Given the description of an element on the screen output the (x, y) to click on. 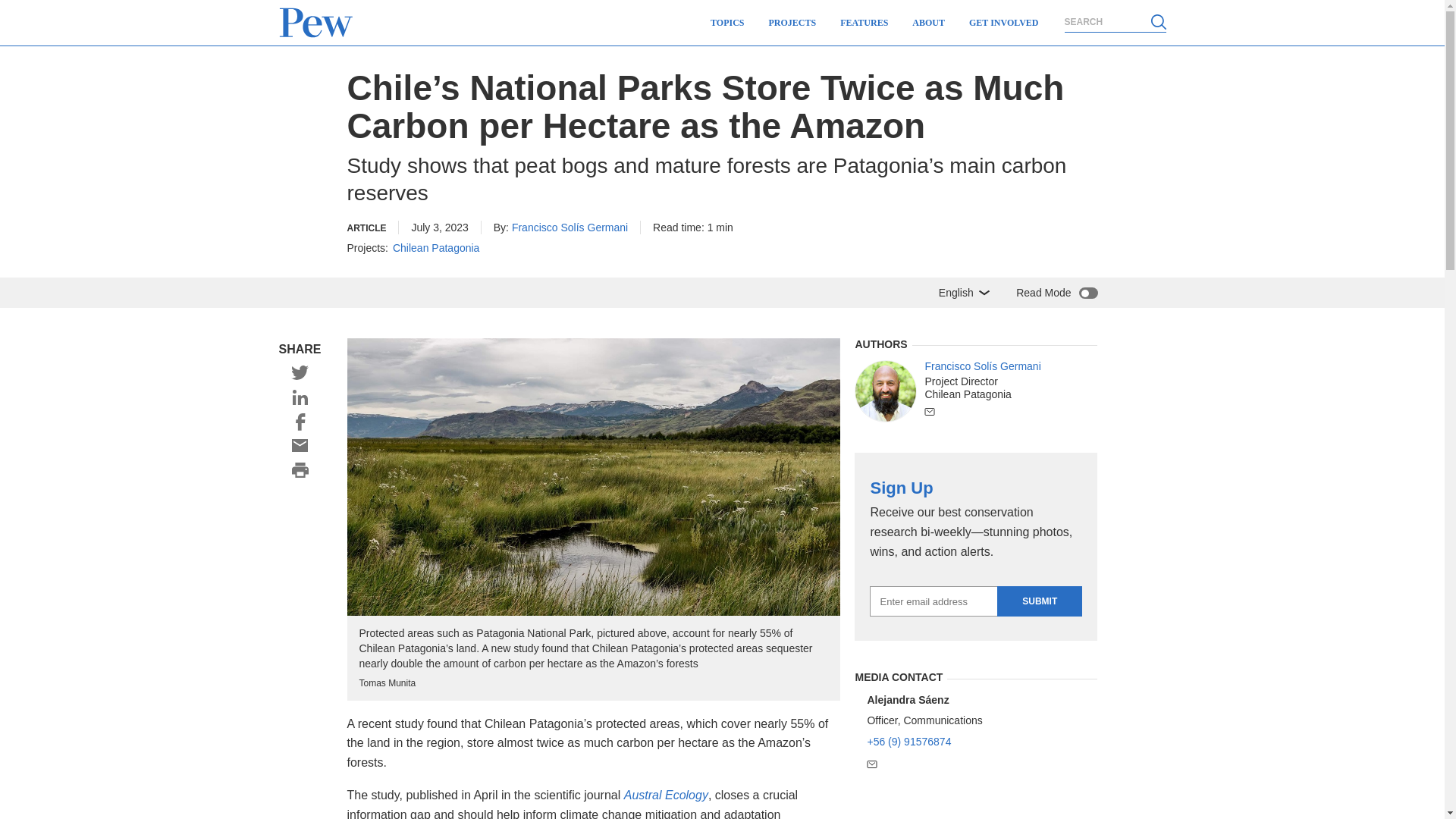
TOPICS (726, 22)
Submit (1039, 601)
PROJECTS (792, 22)
